Given the description of an element on the screen output the (x, y) to click on. 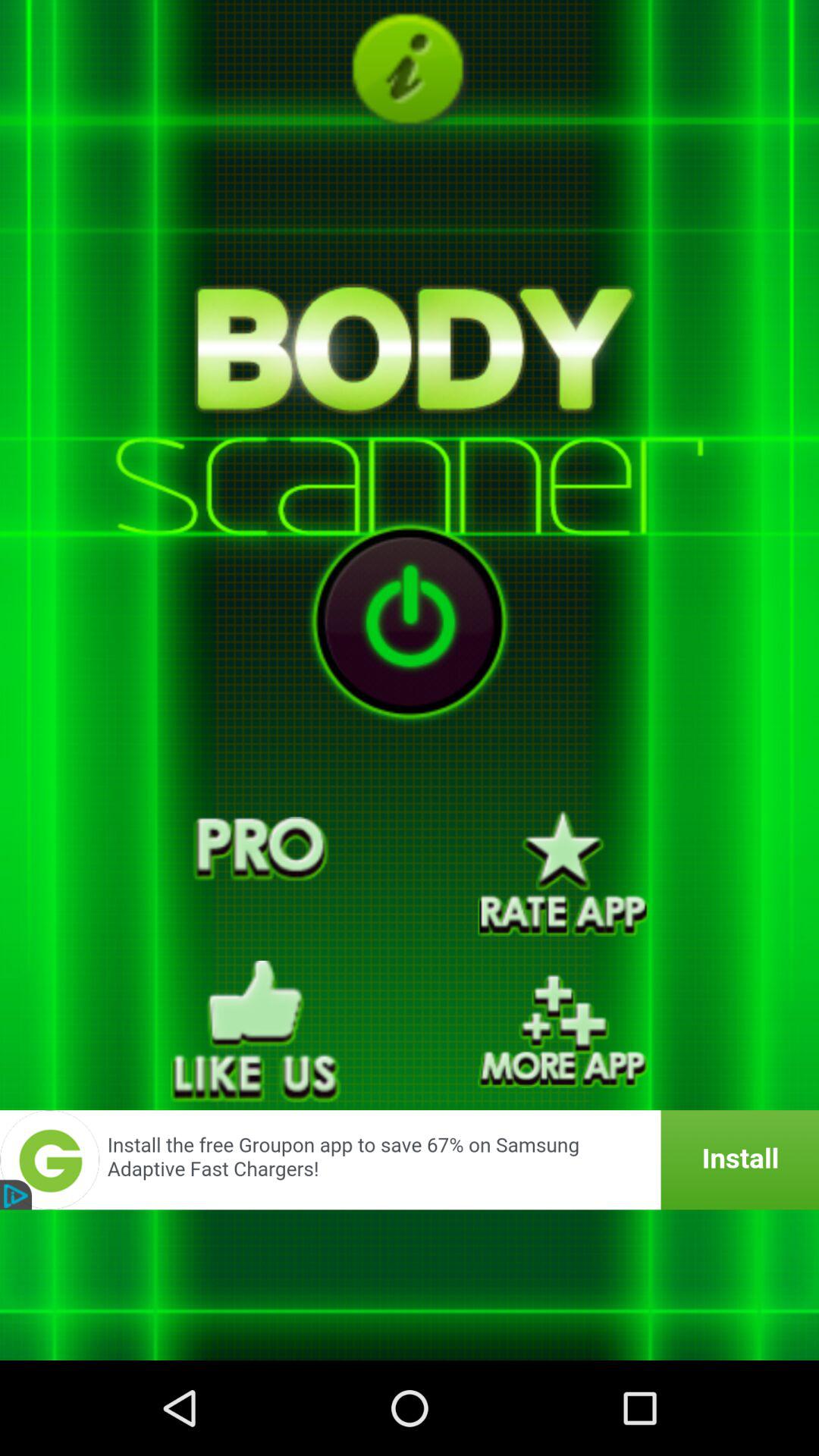
like us on facebook (255, 1031)
